Given the description of an element on the screen output the (x, y) to click on. 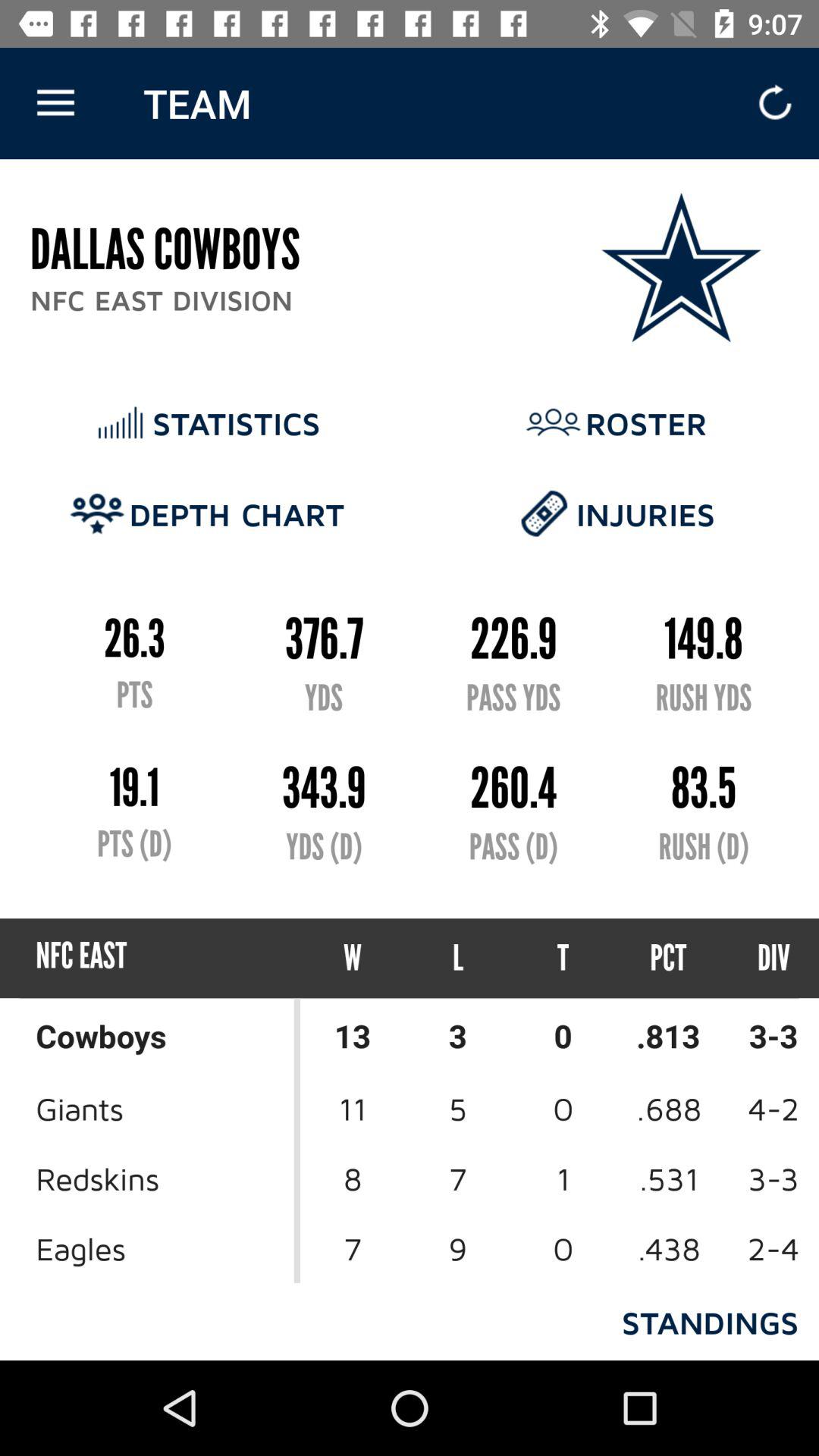
click pct item (668, 958)
